Given the description of an element on the screen output the (x, y) to click on. 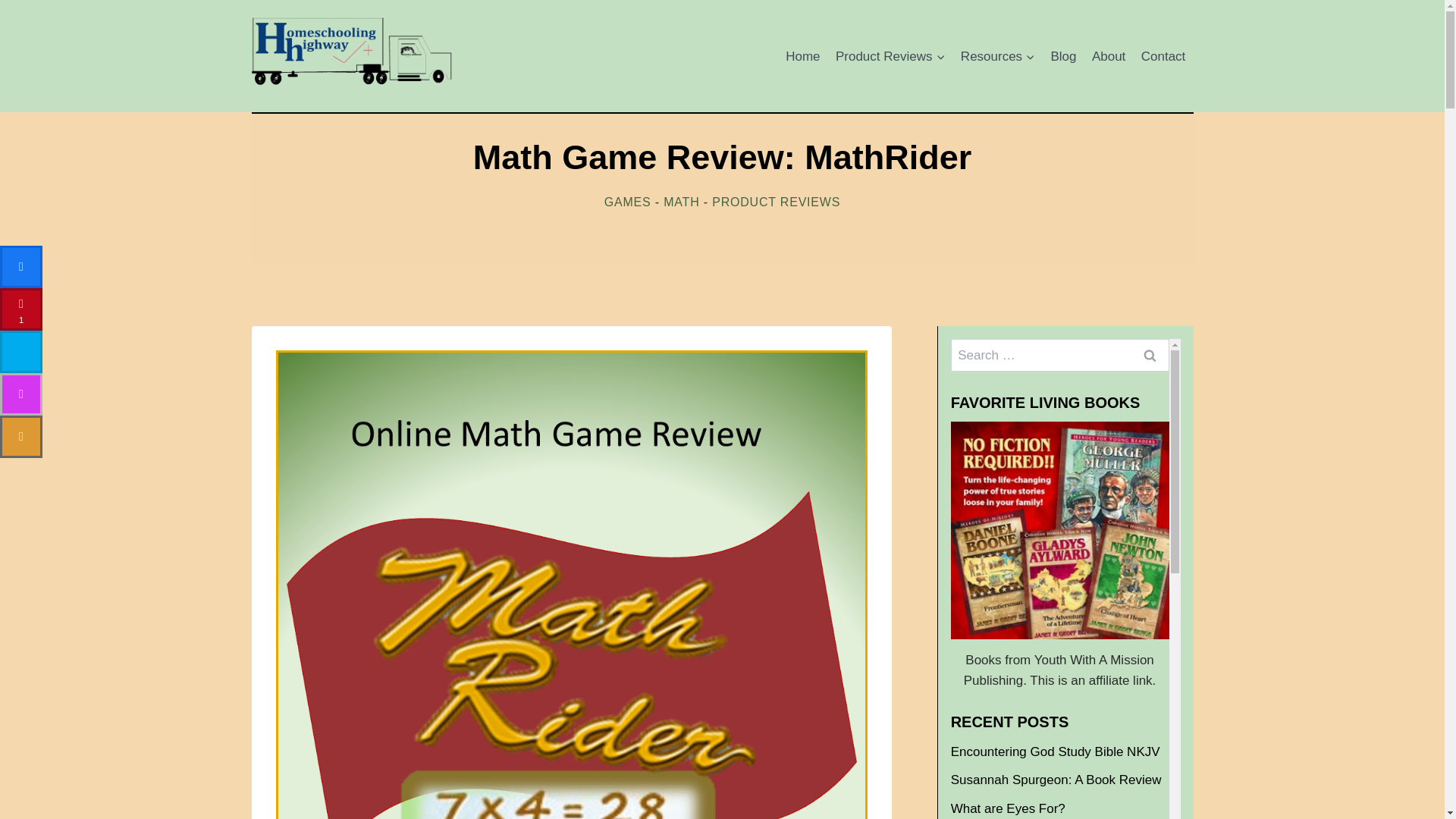
PRODUCT REVIEWS (775, 201)
GAMES (627, 201)
Product Reviews (890, 55)
Search (1150, 355)
Blog (1062, 55)
Search (1150, 355)
Home (802, 55)
Resources (998, 55)
MATH (680, 201)
Contact (1163, 55)
